Given the description of an element on the screen output the (x, y) to click on. 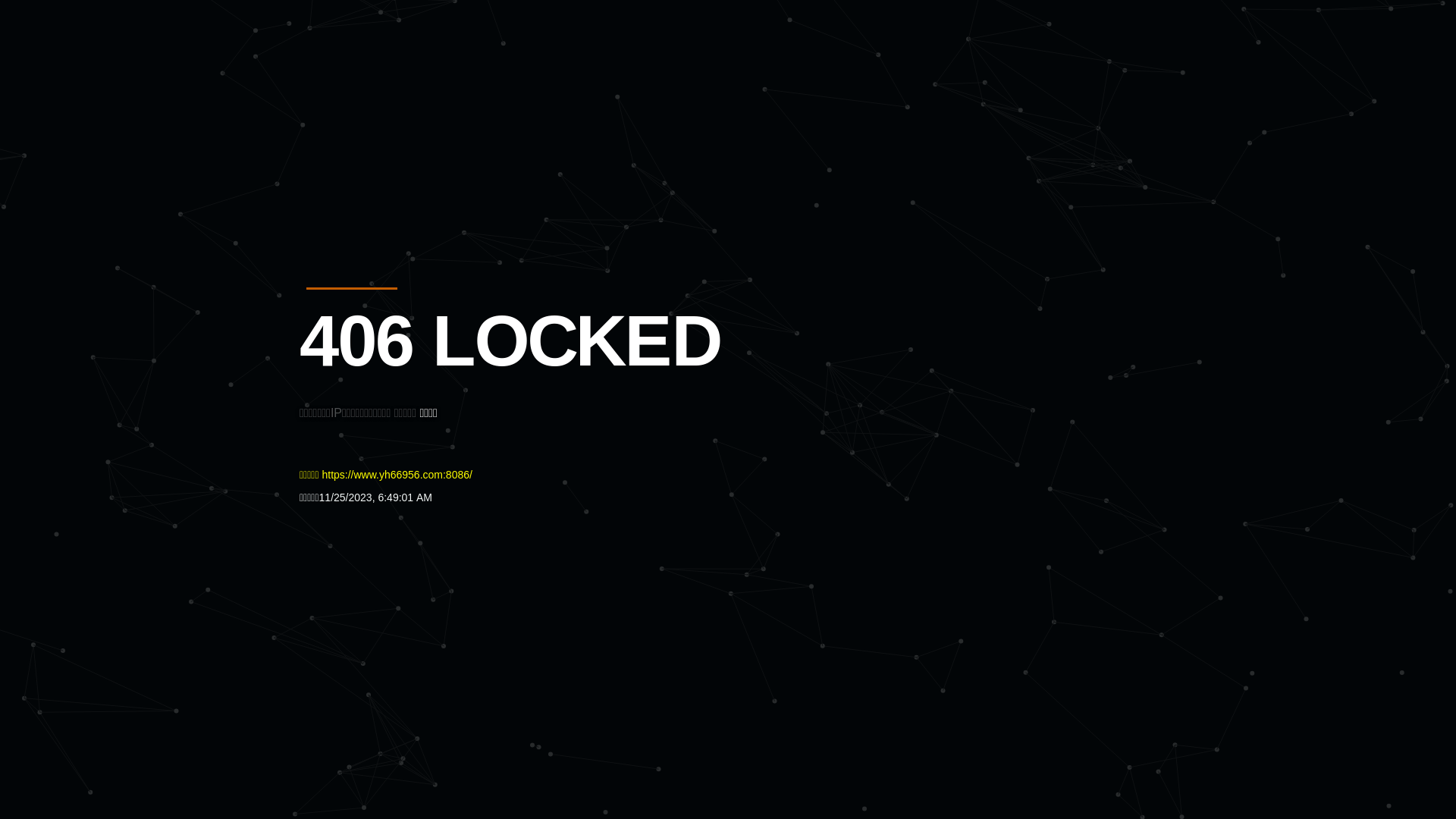
Quatro Element type: text (410, 86)
